Given the description of an element on the screen output the (x, y) to click on. 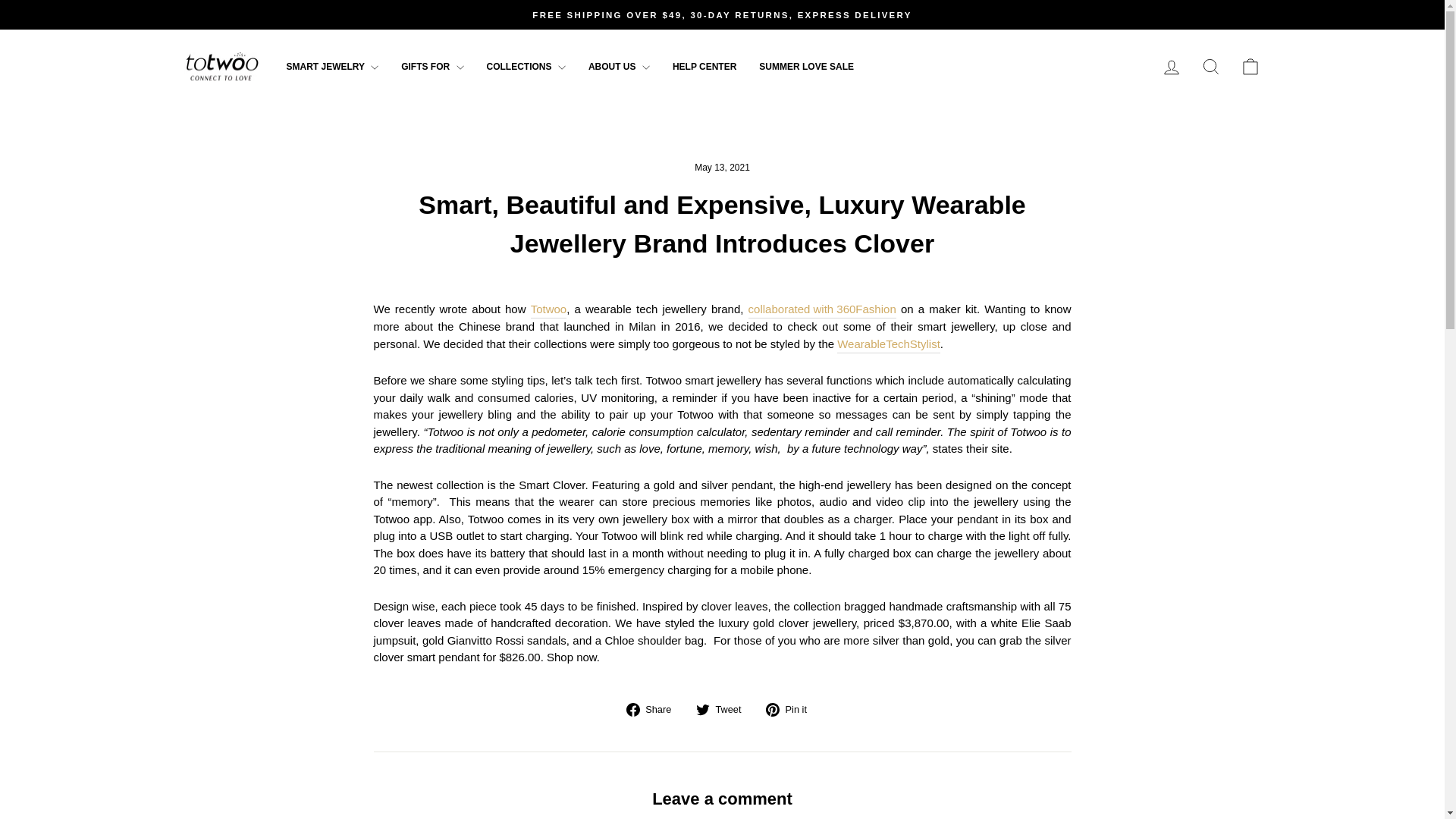
Tweet on Twitter (723, 709)
ICON-BAG-MINIMAL (1249, 66)
Pin on Pinterest (791, 709)
ICON-SEARCH (1210, 66)
Share on Facebook (654, 709)
ACCOUNT (1170, 66)
twitter (702, 709)
